Given the description of an element on the screen output the (x, y) to click on. 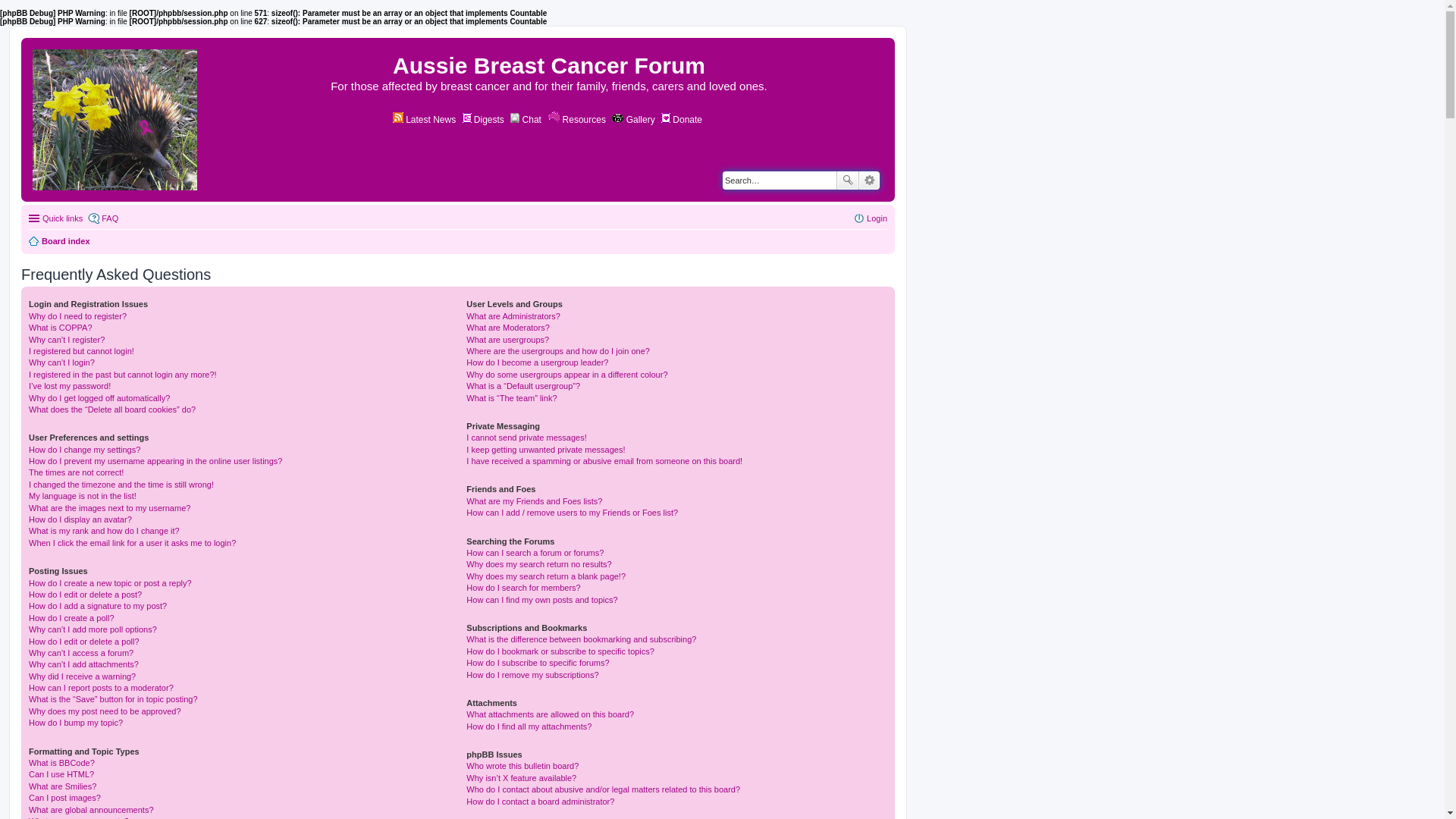
What attachments are allowed on this board? Element type: text (549, 713)
How do I contact a board administrator? Element type: text (540, 801)
How do I create a poll? Element type: text (71, 617)
What are usergroups? Element type: text (507, 339)
Search Element type: text (847, 180)
How do I edit or delete a poll? Element type: text (83, 641)
What are Moderators? Element type: text (507, 327)
Search for keywords Element type: hover (779, 180)
What is COPPA? Element type: text (60, 327)
How do I become a usergroup leader? Element type: text (537, 362)
Can I post images? Element type: text (64, 797)
What are Smilies? Element type: text (62, 785)
What is my rank and how do I change it? Element type: text (103, 530)
I registered but cannot login! Element type: text (81, 350)
Latest News Element type: text (423, 119)
What are Administrators? Element type: text (513, 315)
How do I display an avatar? Element type: text (79, 519)
Why do I need to register? Element type: text (77, 315)
What are global announcements? Element type: text (90, 809)
Why does my search return a blank page!? Element type: text (545, 575)
How can I search a forum or forums? Element type: text (534, 552)
How do I bookmark or subscribe to specific topics? Element type: text (560, 650)
Board index Element type: hover (116, 119)
Board index Element type: text (59, 241)
How do I add a signature to my post? Element type: text (97, 605)
How can I add / remove users to my Friends or Foes list? Element type: text (571, 512)
Gallery Element type: text (632, 119)
Why do some usergroups appear in a different colour? Element type: text (566, 374)
Advanced search Element type: text (869, 180)
How do I find all my attachments? Element type: text (528, 726)
The times are not correct! Element type: text (75, 471)
Why did I receive a warning? Element type: text (81, 675)
Digests Element type: text (483, 119)
Resources Element type: text (576, 119)
What is BBCode? Element type: text (61, 762)
How do I create a new topic or post a reply? Element type: text (109, 582)
Why do I get logged off automatically? Element type: text (98, 396)
I keep getting unwanted private messages! Element type: text (545, 449)
Quick links Element type: text (55, 218)
I cannot send private messages! Element type: text (526, 437)
How do I edit or delete a post? Element type: text (84, 594)
What is the difference between bookmarking and subscribing? Element type: text (581, 638)
Why does my post need to be approved? Element type: text (104, 710)
Where are the usergroups and how do I join one? Element type: text (557, 350)
Donate Element type: text (681, 119)
I changed the timezone and the time is still wrong! Element type: text (120, 484)
Why does my search return no results? Element type: text (538, 563)
Can I use HTML? Element type: text (61, 773)
Login Element type: text (870, 218)
I registered in the past but cannot login any more?! Element type: text (122, 374)
FAQ Element type: text (102, 218)
What are the images next to my username? Element type: text (109, 507)
How do I bump my topic? Element type: text (75, 722)
My language is not in the list! Element type: text (82, 495)
What are my Friends and Foes lists? Element type: text (534, 500)
When I click the email link for a user it asks me to login? Element type: text (131, 542)
How can I find my own posts and topics? Element type: text (541, 599)
How do I search for members? Element type: text (523, 587)
How can I report posts to a moderator? Element type: text (100, 687)
How do I change my settings? Element type: text (84, 449)
How do I remove my subscriptions? Element type: text (532, 674)
How do I subscribe to specific forums? Element type: text (537, 662)
Chat Element type: text (525, 119)
Who wrote this bulletin board? Element type: text (522, 765)
